Given the description of an element on the screen output the (x, y) to click on. 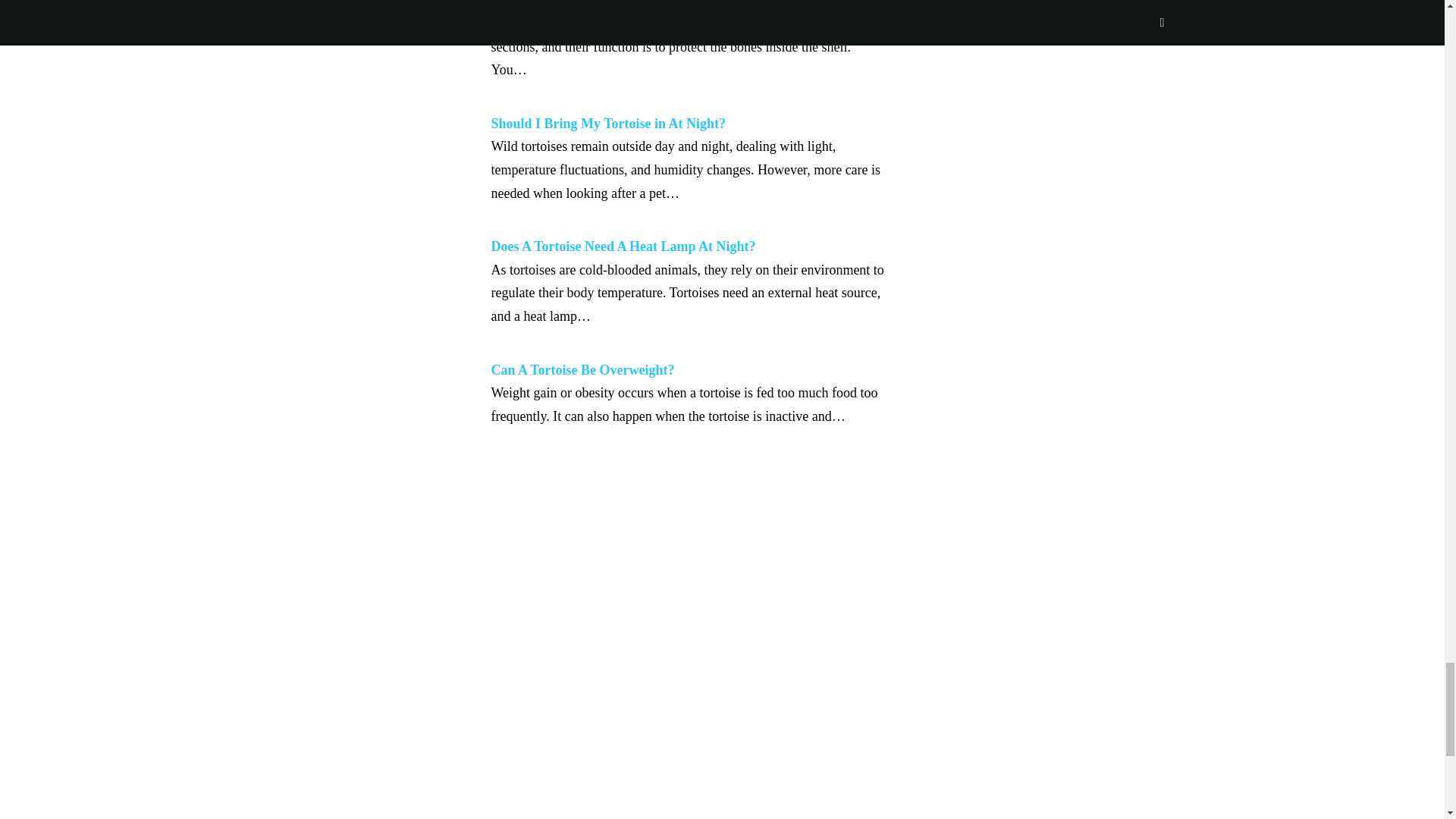
Can A Tortoise Be Overweight? (583, 369)
Does A Tortoise Need A Heat Lamp At Night? (623, 246)
Should I Bring My Tortoise in At Night? (609, 123)
6 Early Signs of Pyramiding in Tortoises (609, 3)
